Given the description of an element on the screen output the (x, y) to click on. 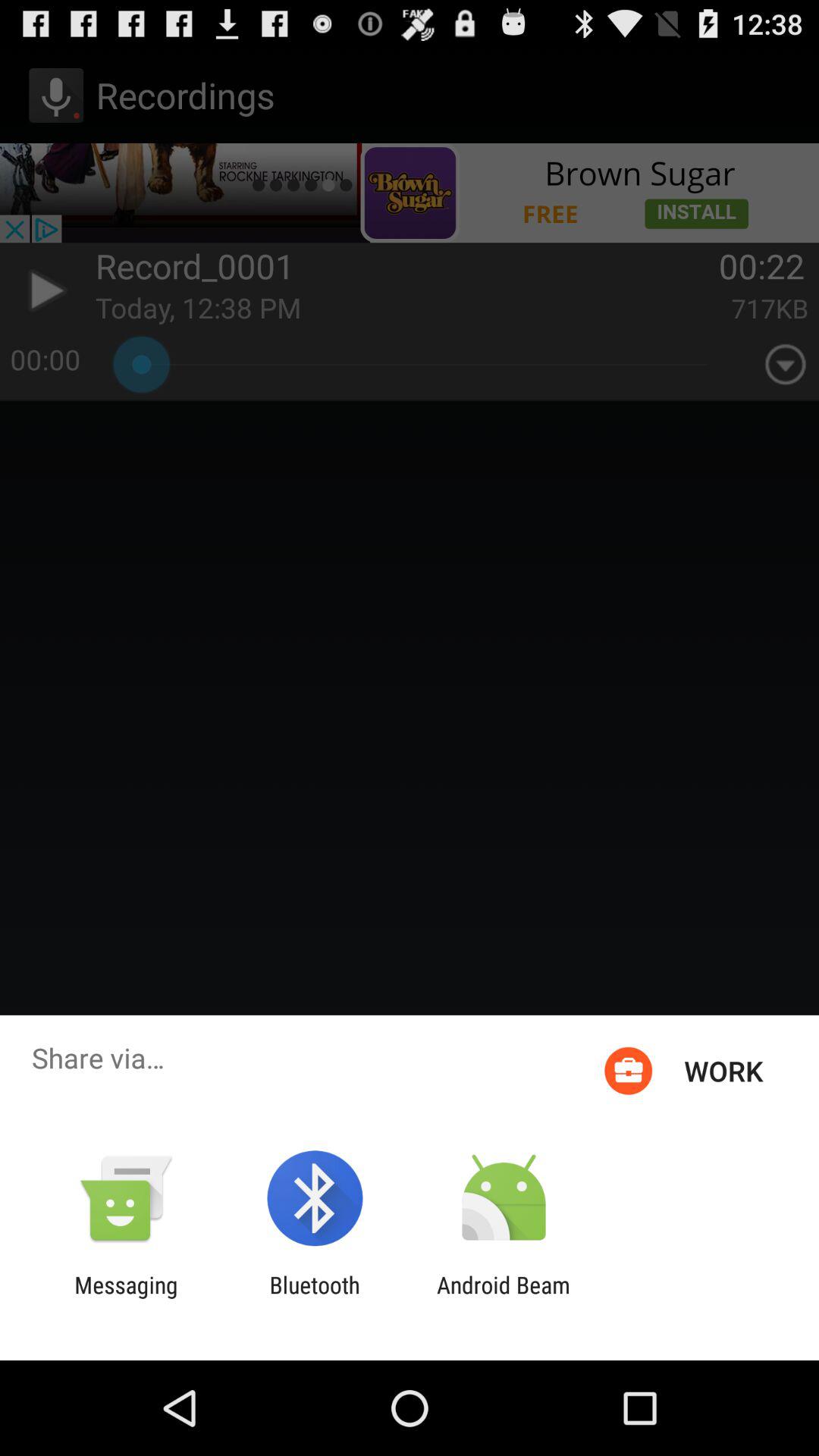
press the app next to the bluetooth (126, 1298)
